Given the description of an element on the screen output the (x, y) to click on. 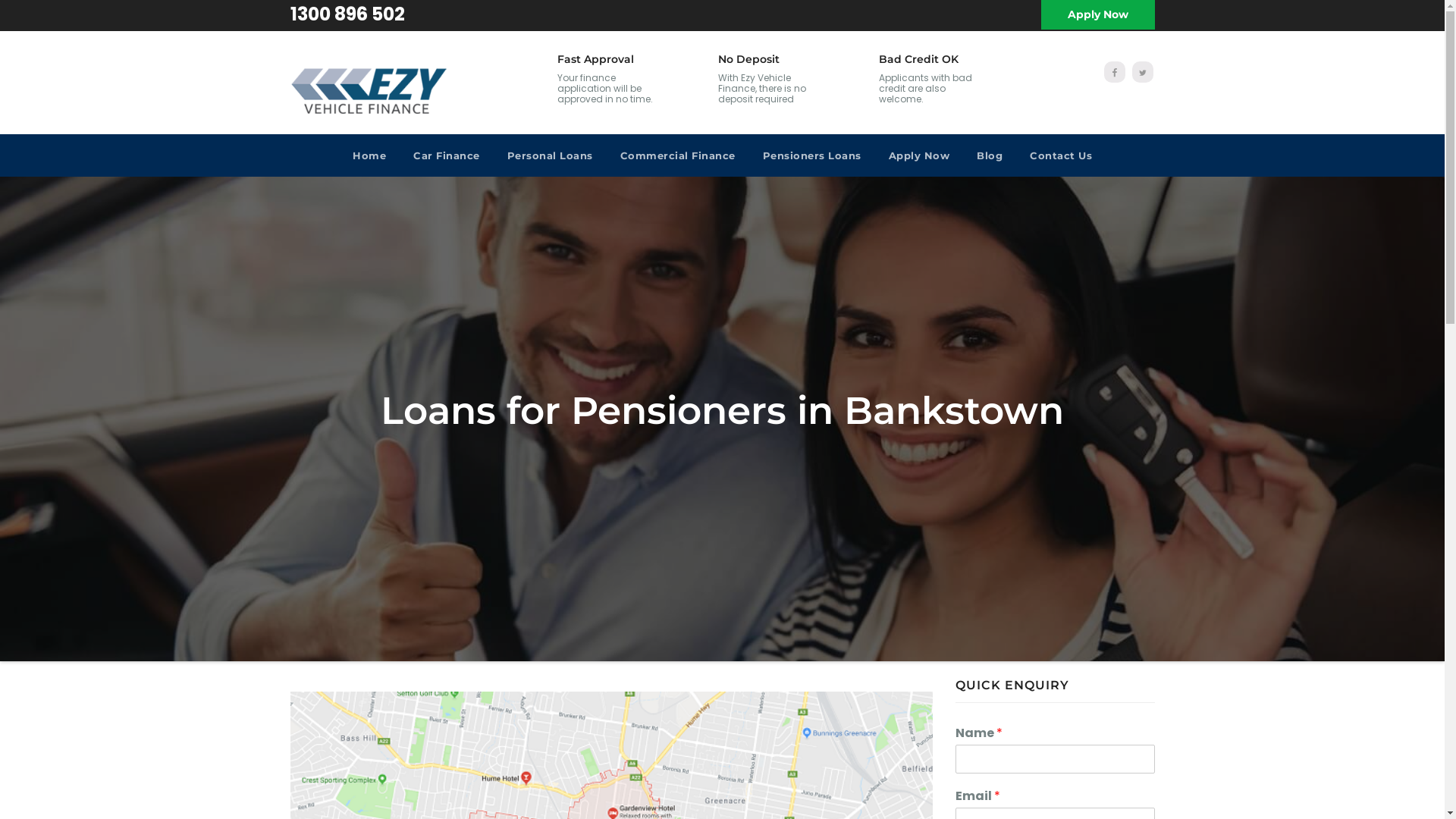
Home Element type: text (369, 155)
Facebook Element type: text (1114, 71)
Apply Now Element type: text (919, 155)
Personal Loans Element type: text (549, 155)
1300 896 502 Element type: text (346, 13)
Twitter Element type: text (1141, 71)
Car Finance Element type: text (446, 155)
Pensioners Loans Element type: text (811, 155)
Blog Element type: text (989, 155)
Commercial Finance Element type: text (677, 155)
Contact Us Element type: text (1060, 155)
